Given the description of an element on the screen output the (x, y) to click on. 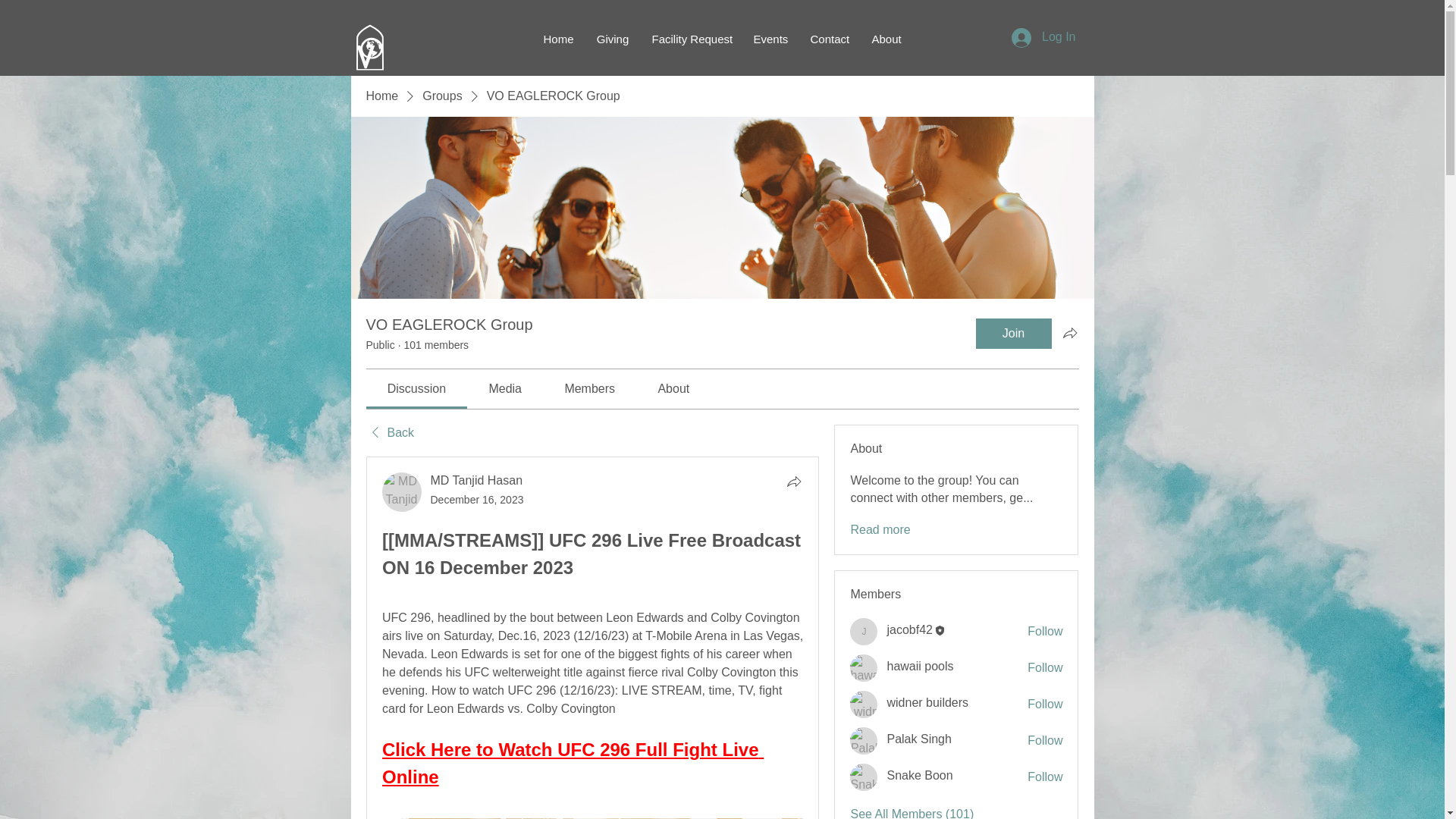
Follow (1044, 777)
Follow (1044, 704)
Palak Singh (918, 738)
Giving (612, 39)
Snake Boon (863, 777)
Click Here to Watch UFC 296 Full Fight Live Online (571, 763)
Groups (441, 95)
Events (769, 39)
MD Tanjid Hasan (401, 491)
Follow (1044, 740)
widner builders (927, 702)
Back (389, 433)
About (886, 39)
Contact (829, 39)
Read more (880, 529)
